Given the description of an element on the screen output the (x, y) to click on. 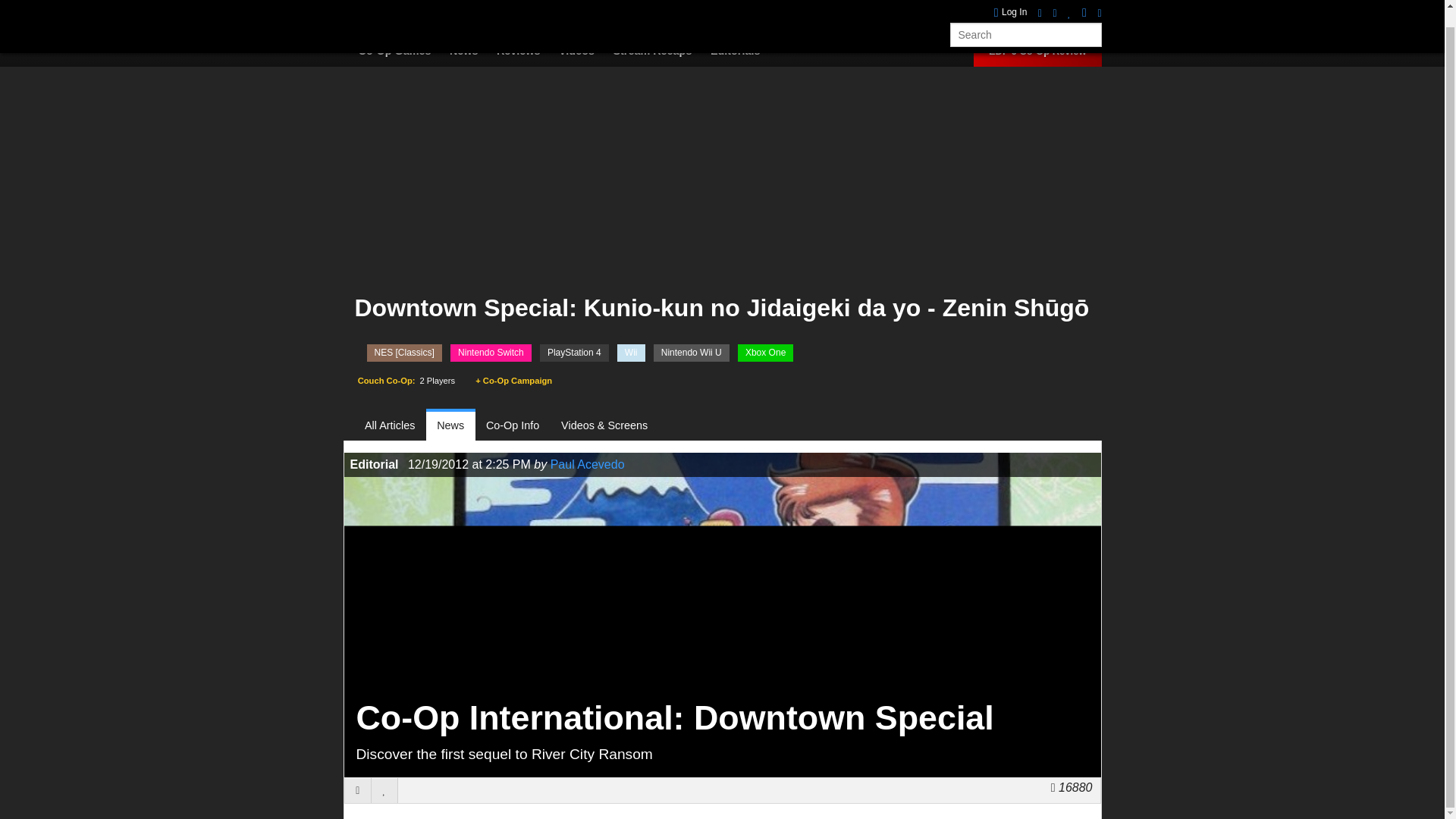
Reviews (526, 50)
Weekly Video Streams and VODs from Co-Optimus (659, 50)
News (471, 50)
All Articles (395, 425)
Nintendo Wii U (691, 352)
EDF 6 Co-Op Review (1037, 50)
Stream Recaps (659, 50)
login (1010, 1)
 Log In (1010, 1)
Wii (631, 352)
